Given the description of an element on the screen output the (x, y) to click on. 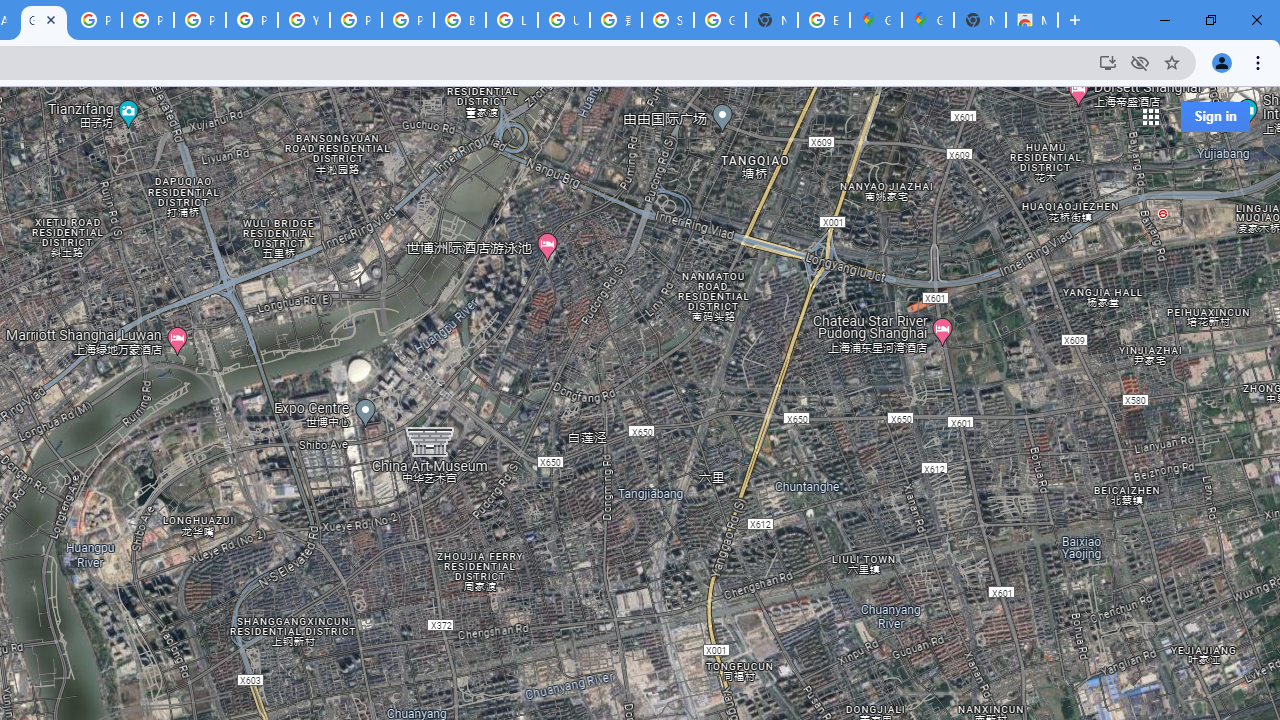
Explore new street-level details - Google Maps Help (823, 20)
Privacy Help Center - Policies Help (147, 20)
YouTube (303, 20)
Policy Accountability and Transparency - Transparency Center (95, 20)
Install Google Maps (1107, 62)
Google Maps (43, 20)
